Given the description of an element on the screen output the (x, y) to click on. 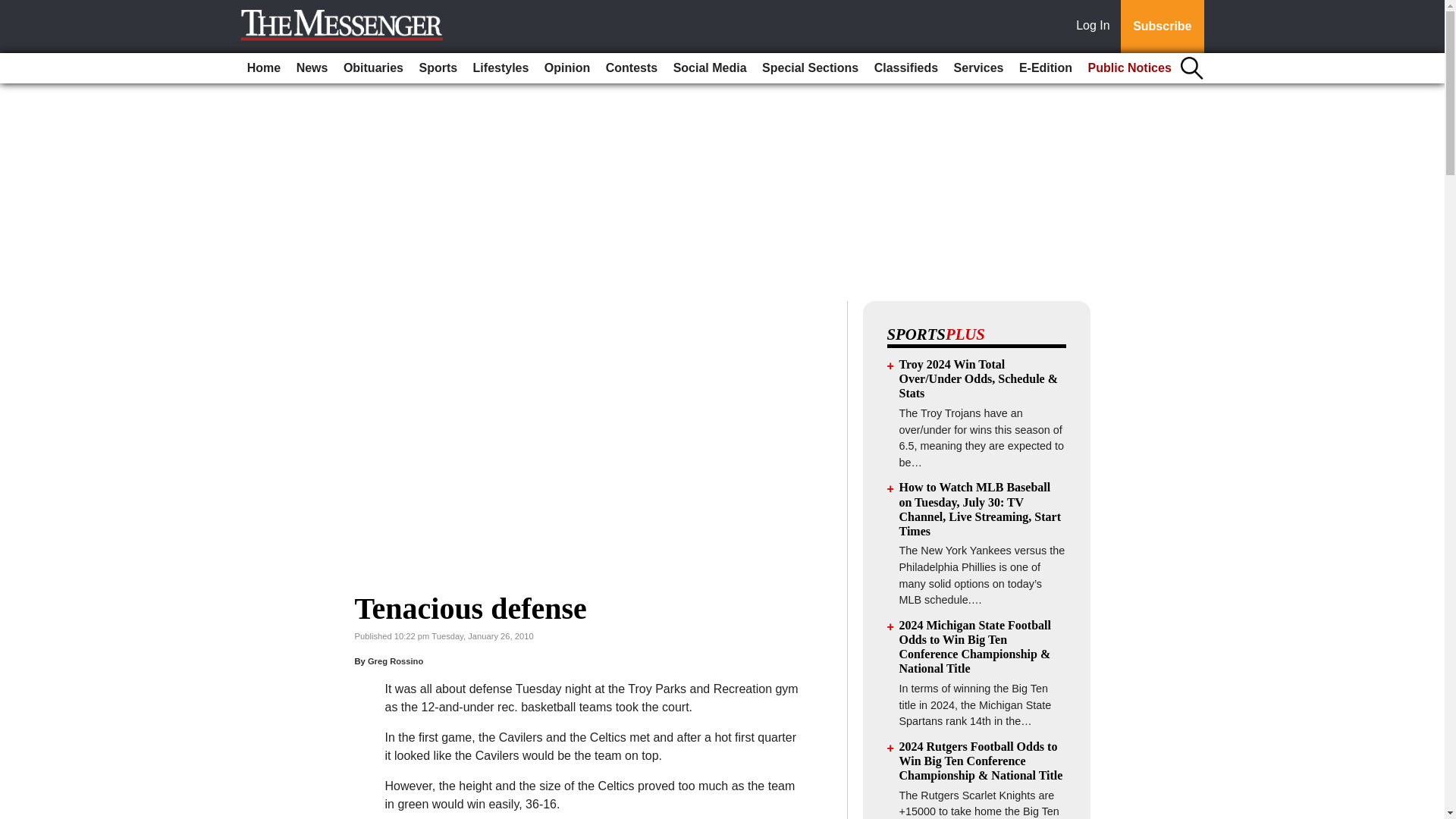
E-Edition (1045, 68)
Obituaries (373, 68)
Sports (437, 68)
Special Sections (809, 68)
Social Media (709, 68)
Lifestyles (501, 68)
News (311, 68)
Log In (1095, 26)
Subscribe (1162, 26)
Home (263, 68)
Classifieds (905, 68)
Opinion (566, 68)
Services (978, 68)
Contests (631, 68)
